Given the description of an element on the screen output the (x, y) to click on. 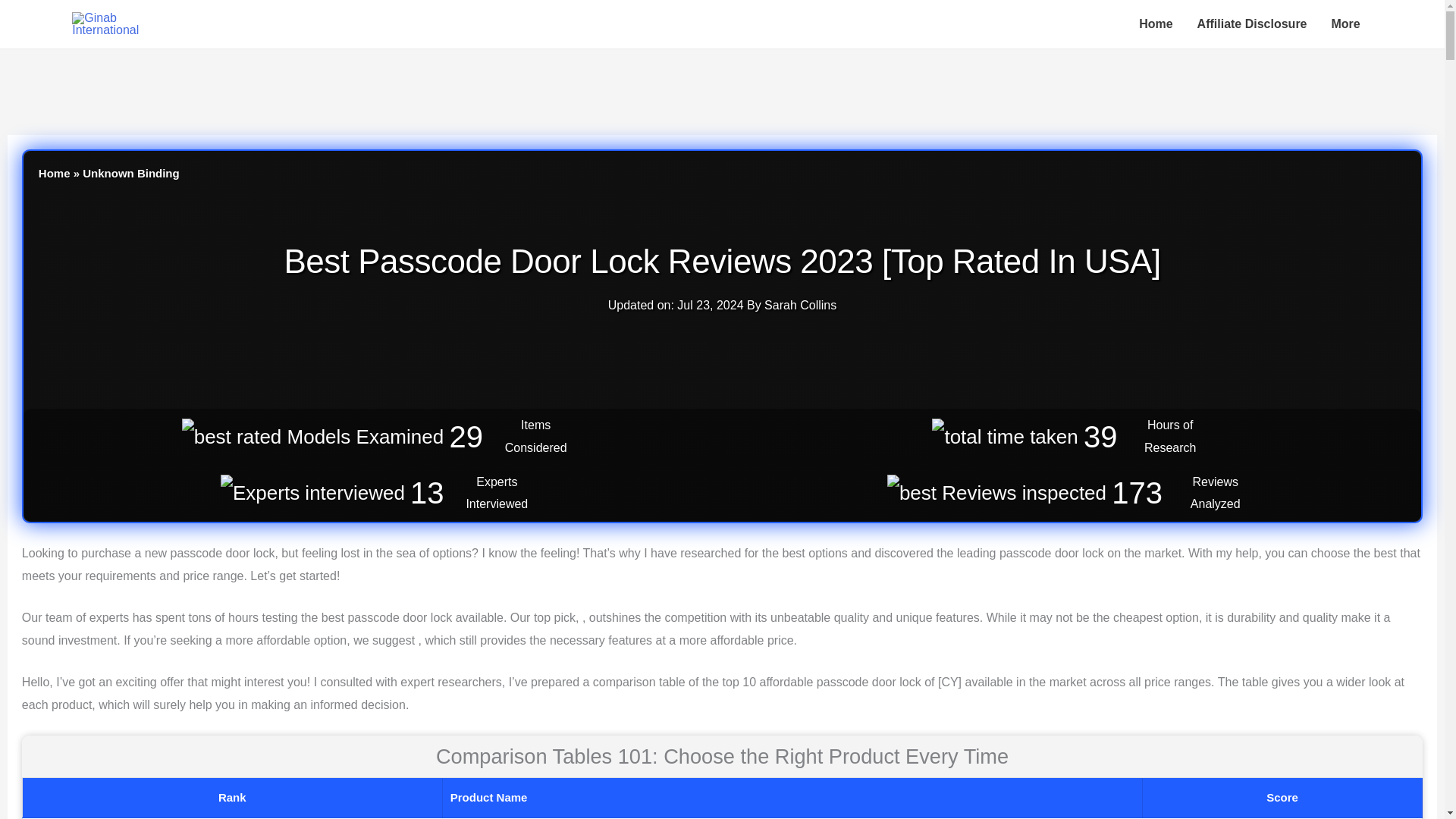
Home (1155, 24)
Home (54, 173)
Unknown Binding (130, 173)
More (1346, 24)
Affiliate Disclosure (1252, 24)
